Given the description of an element on the screen output the (x, y) to click on. 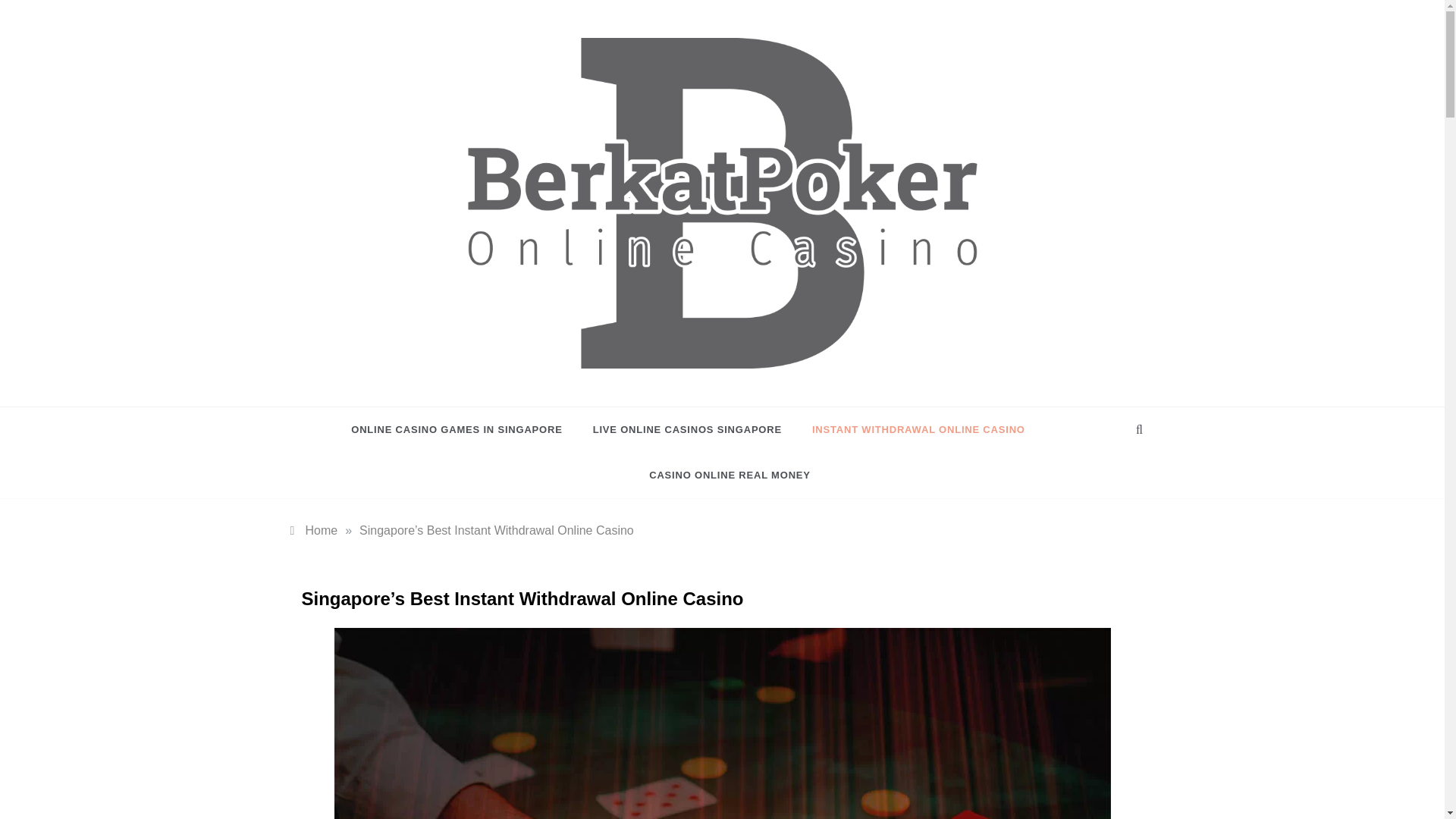
CASINO ONLINE REAL MONEY (721, 474)
ONLINE CASINO GAMES IN SINGAPORE (463, 429)
LIVE ONLINE CASINOS SINGAPORE (687, 429)
BerkatPoker (564, 391)
INSTANT WITHDRAWAL ONLINE CASINO (918, 429)
Home (313, 530)
